Given the description of an element on the screen output the (x, y) to click on. 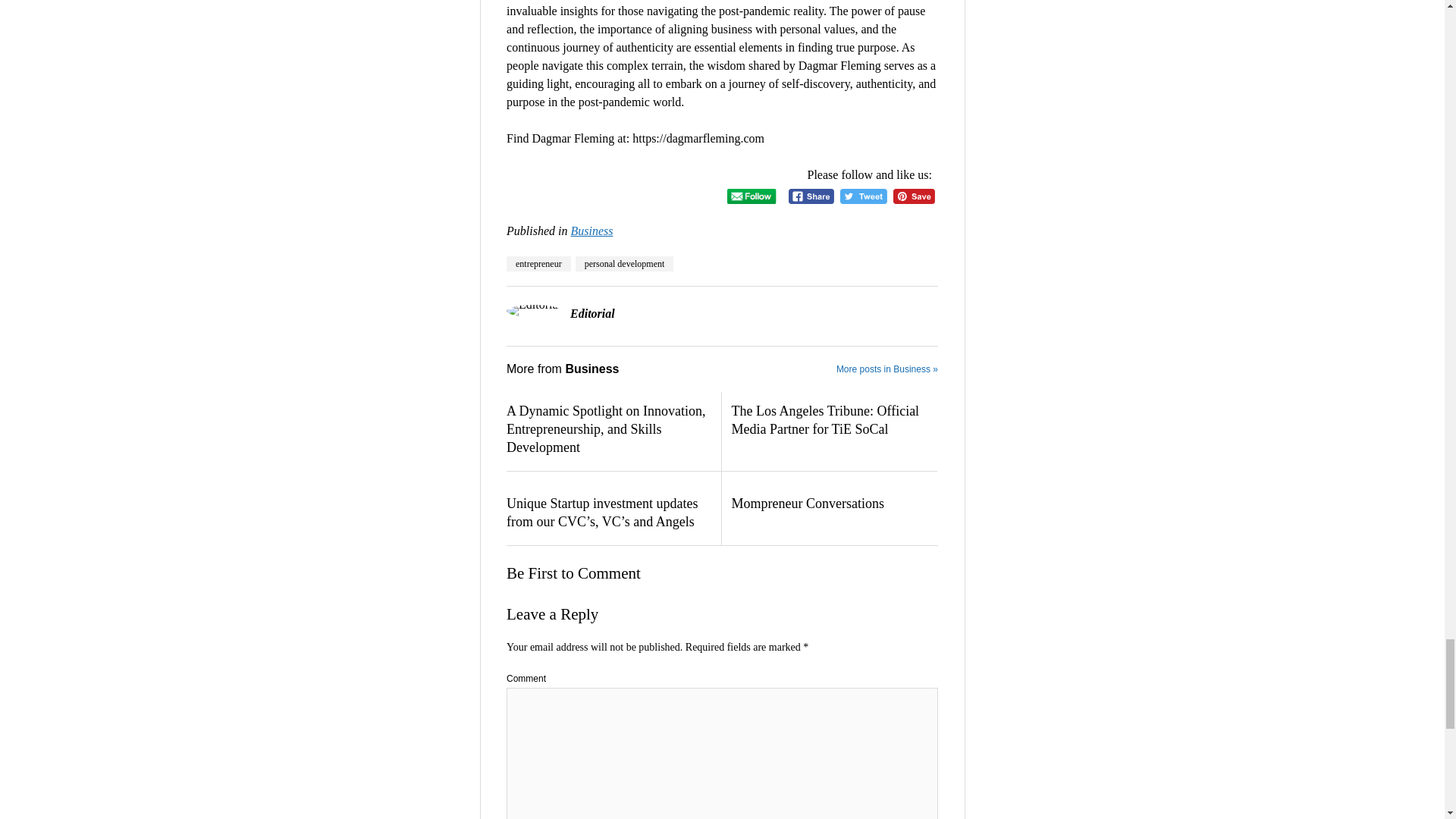
Tweet (863, 196)
View all posts in Business (591, 230)
View all posts tagged entrepreneur (538, 263)
Facebook Share (811, 196)
Pin Share (913, 196)
View all posts tagged personal development (624, 263)
